Given the description of an element on the screen output the (x, y) to click on. 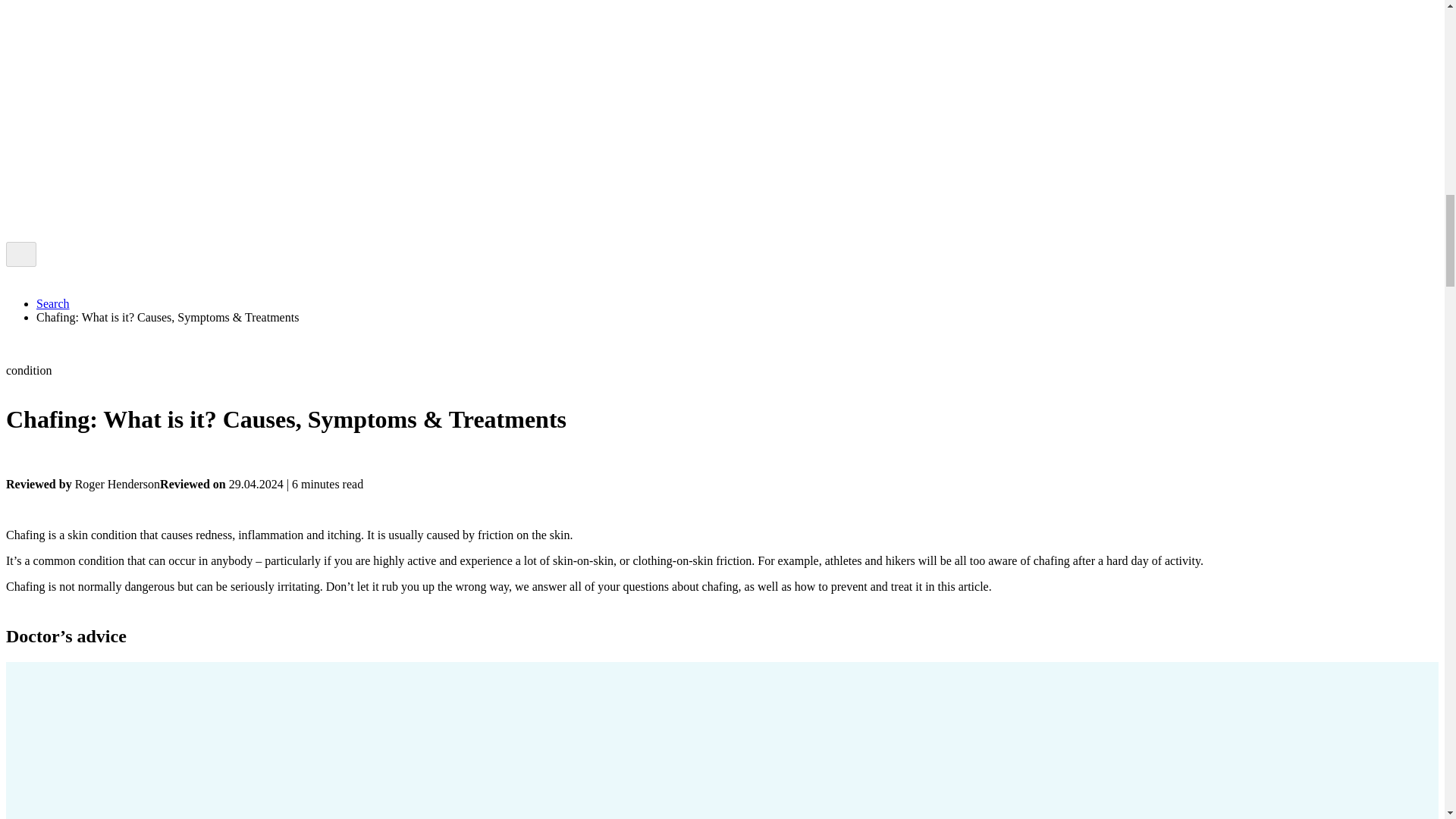
Search (52, 303)
